Given the description of an element on the screen output the (x, y) to click on. 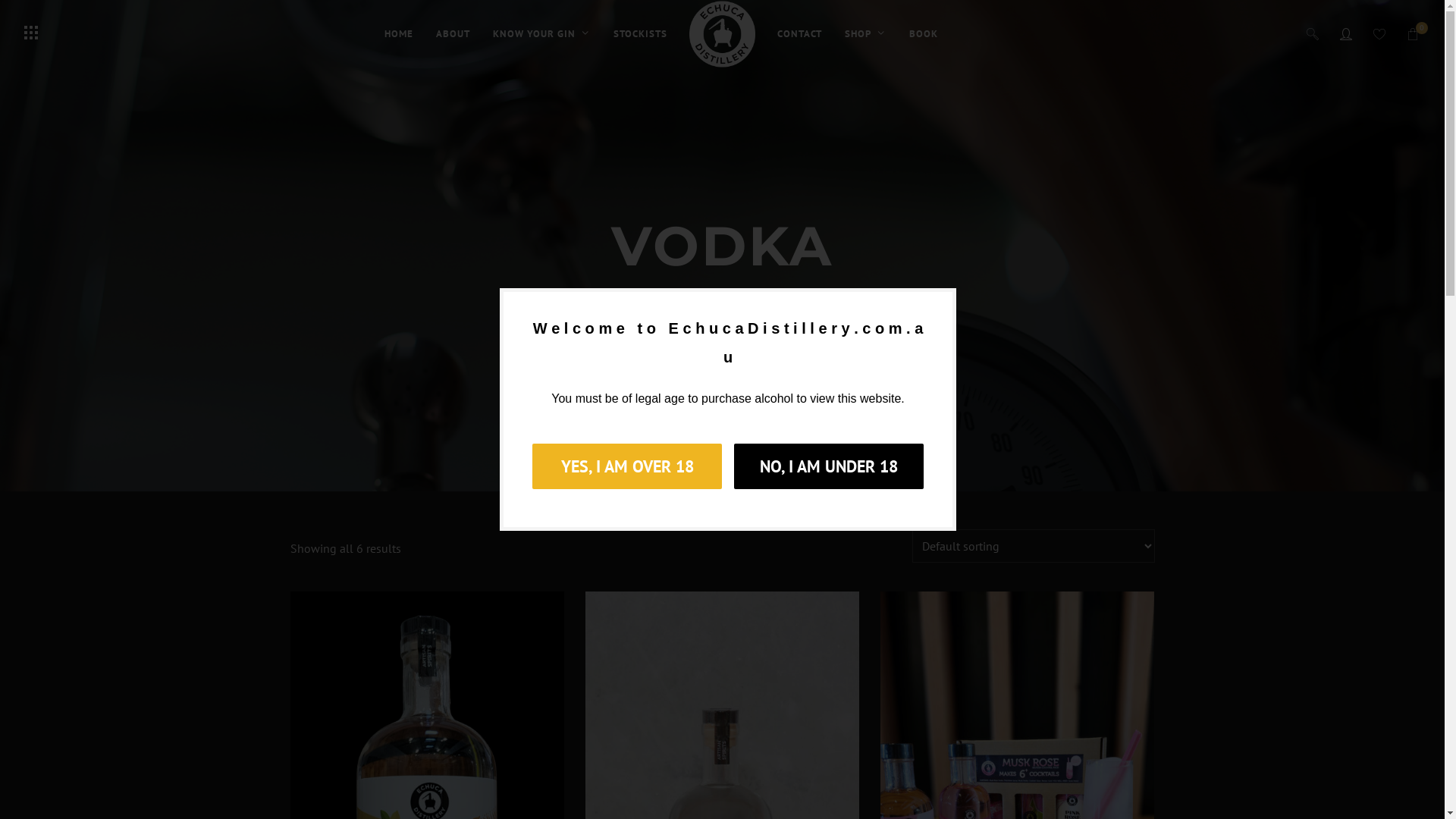
CONTACT Element type: text (799, 34)
SHOP Element type: text (865, 34)
ABOUT Element type: text (452, 34)
Side Panel Element type: hover (30, 32)
Sign In or Register Element type: hover (1346, 34)
0 Element type: text (1413, 34)
Search Element type: hover (1313, 34)
YES, I AM OVER 18 Element type: text (626, 466)
STOCKISTS Element type: text (640, 34)
BOOK Element type: text (923, 34)
Search Element type: text (42, 19)
HOME Element type: text (398, 34)
NO, I AM UNDER 18 Element type: text (828, 466)
My Wishlist Element type: hover (1379, 34)
KNOW YOUR GIN Element type: text (541, 34)
